Given the description of an element on the screen output the (x, y) to click on. 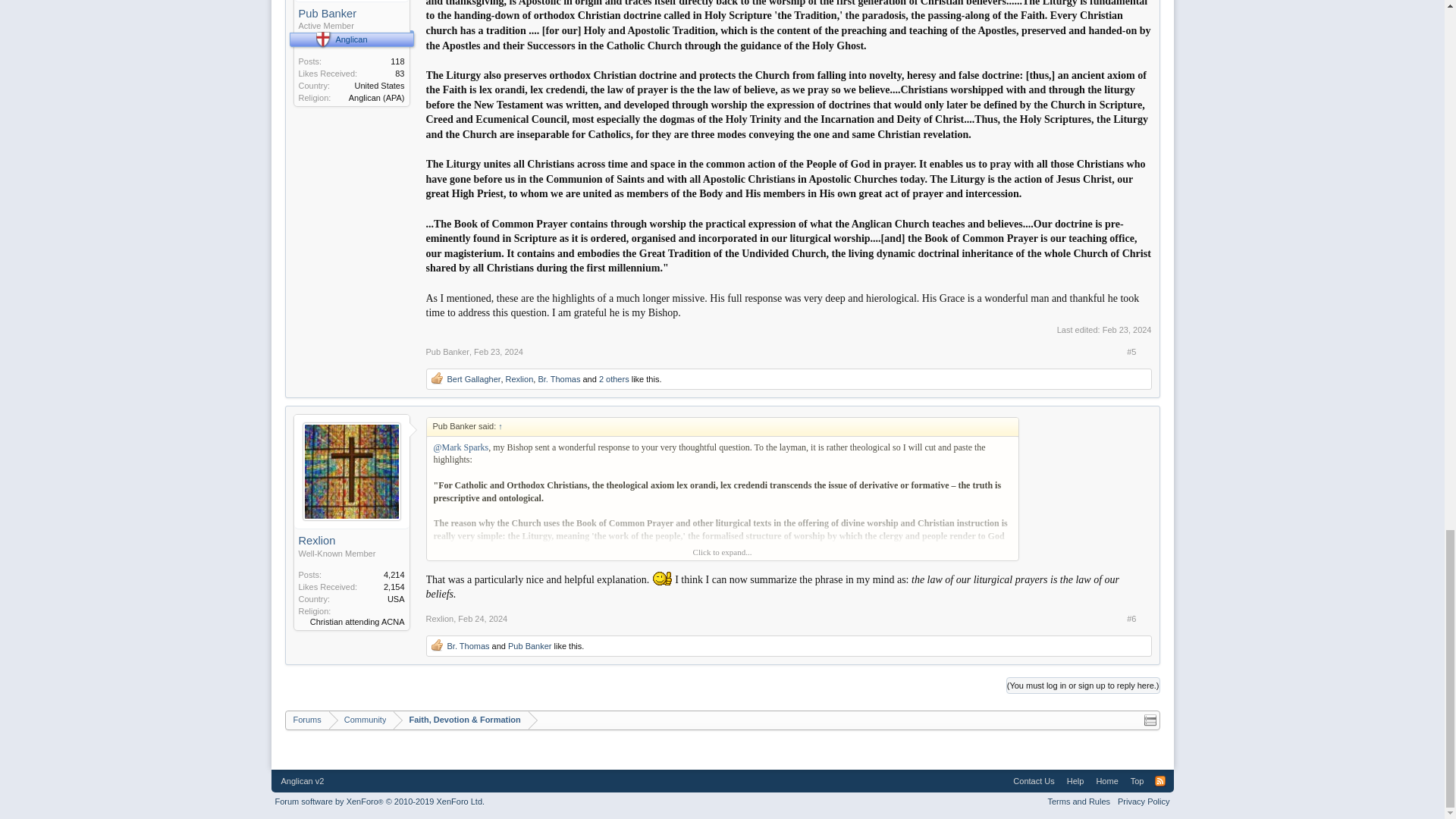
Permalink (498, 351)
Feb 23, 2024 at 10:15 AM (1126, 329)
